Given the description of an element on the screen output the (x, y) to click on. 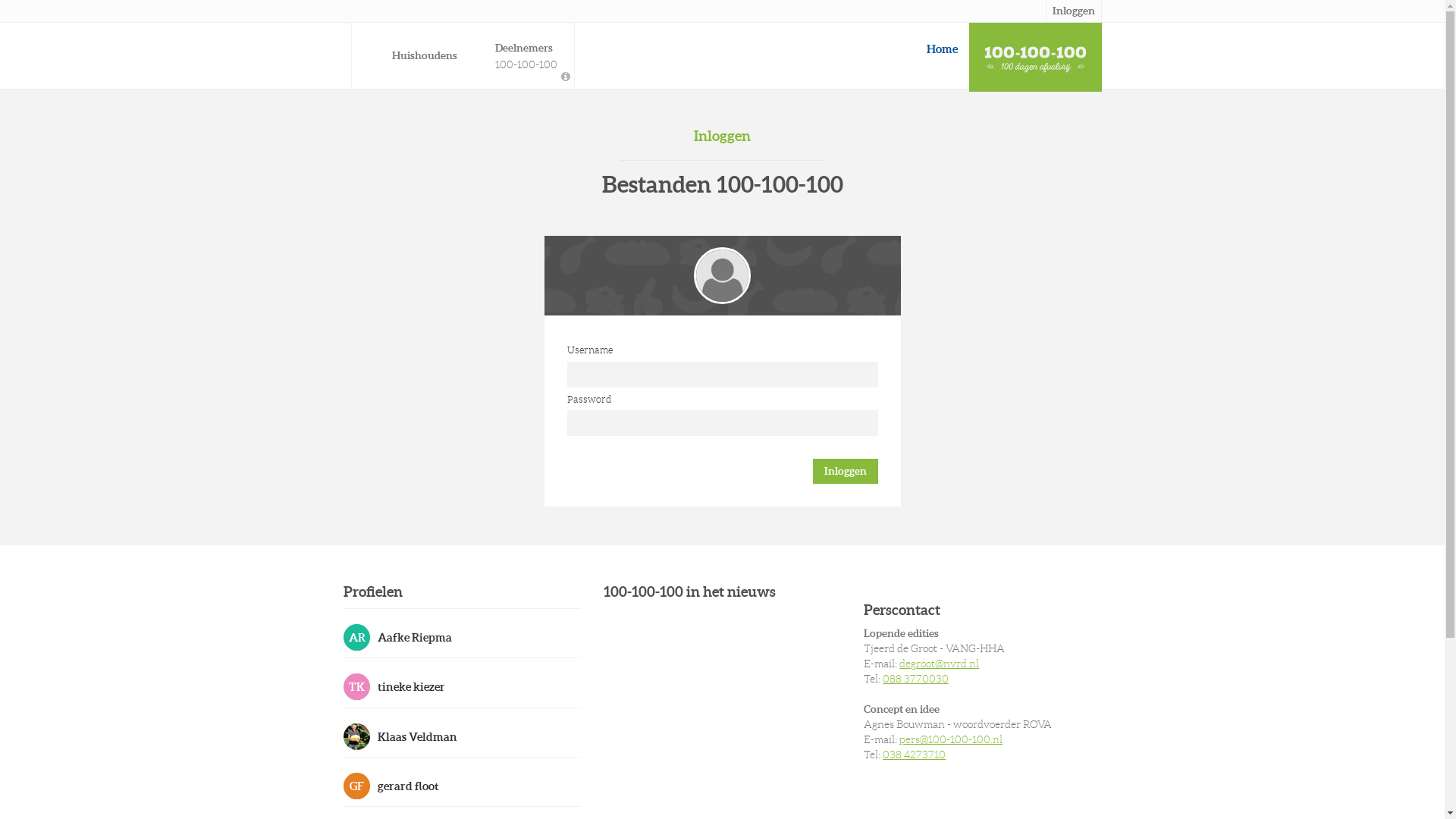
Klaas Veldman Element type: text (461, 736)
tineke kiezer Element type: text (461, 686)
038 4273710 Element type: text (913, 754)
Afvalmeter: Gemiddelde storting per week Element type: hover (565, 77)
pers@100-100-100.nl Element type: text (950, 739)
Home Element type: text (941, 48)
Inloggen Element type: text (1072, 10)
088 3770030 Element type: text (915, 678)
Aafke Riepma Element type: text (461, 636)
gerard floot Element type: text (461, 785)
degroot@nvrd.nl Element type: text (939, 663)
Inloggen Element type: text (845, 470)
